Given the description of an element on the screen output the (x, y) to click on. 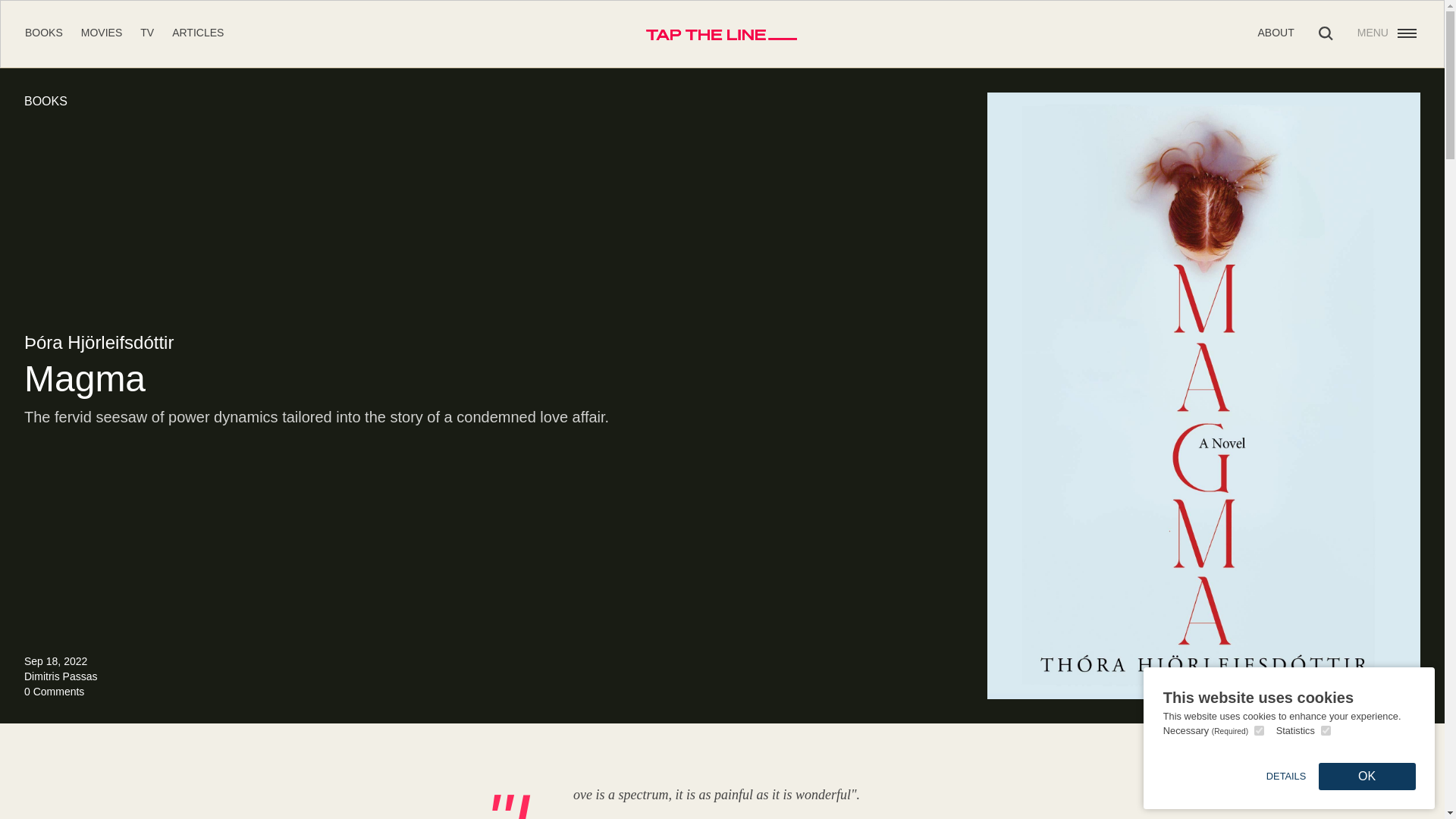
0 Comments (54, 691)
on (1325, 730)
MENU (1387, 33)
on (1258, 730)
TV (146, 32)
ABOUT (1275, 32)
MOVIES (101, 32)
ARTICLES (197, 32)
BOOKS (43, 32)
